Given the description of an element on the screen output the (x, y) to click on. 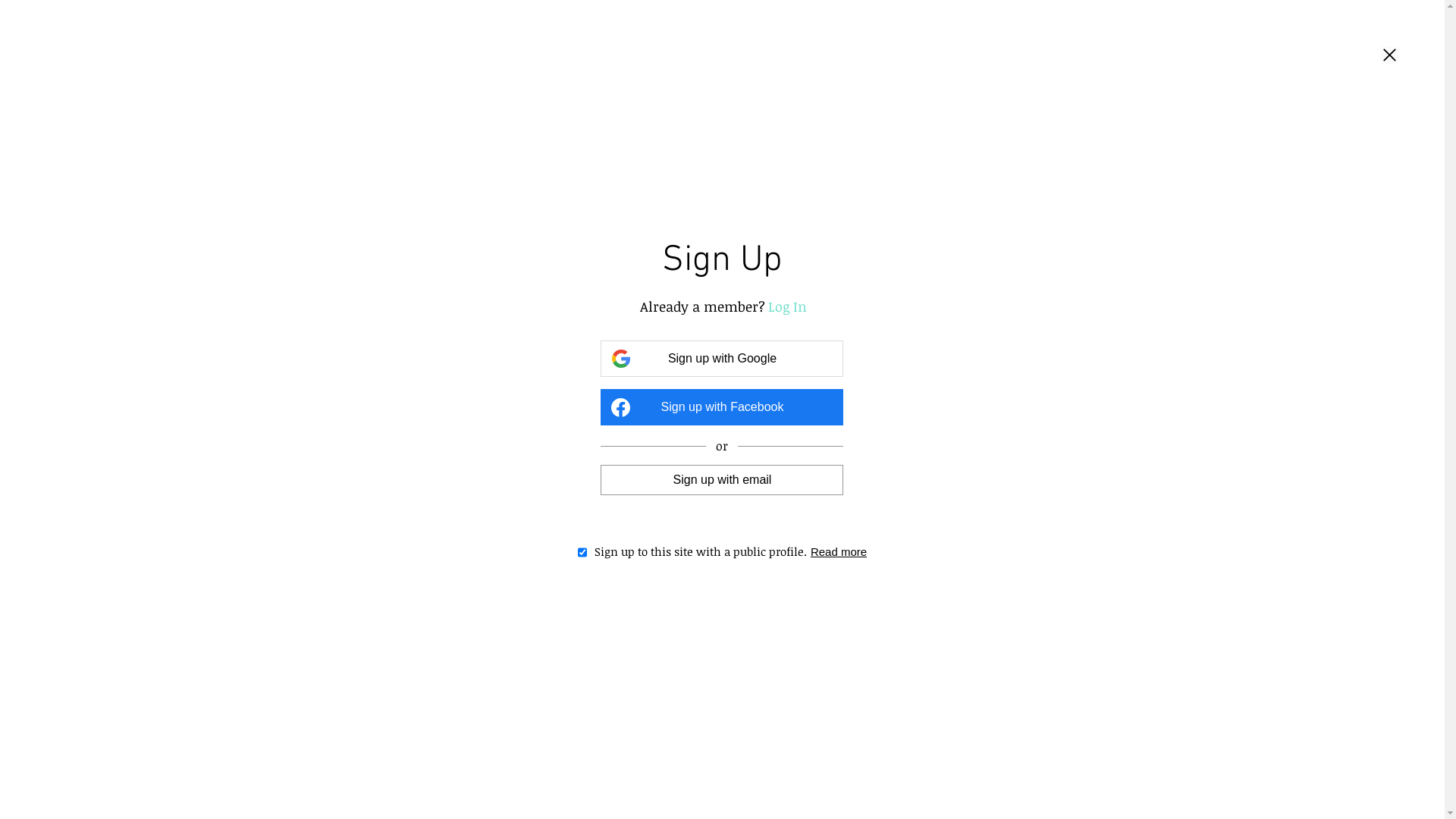
Sign up with Facebook Element type: text (721, 407)
Sign up with Google Element type: text (721, 358)
Sign up with email Element type: text (721, 479)
Read more Element type: text (824, 550)
Log In Element type: text (778, 306)
